Given the description of an element on the screen output the (x, y) to click on. 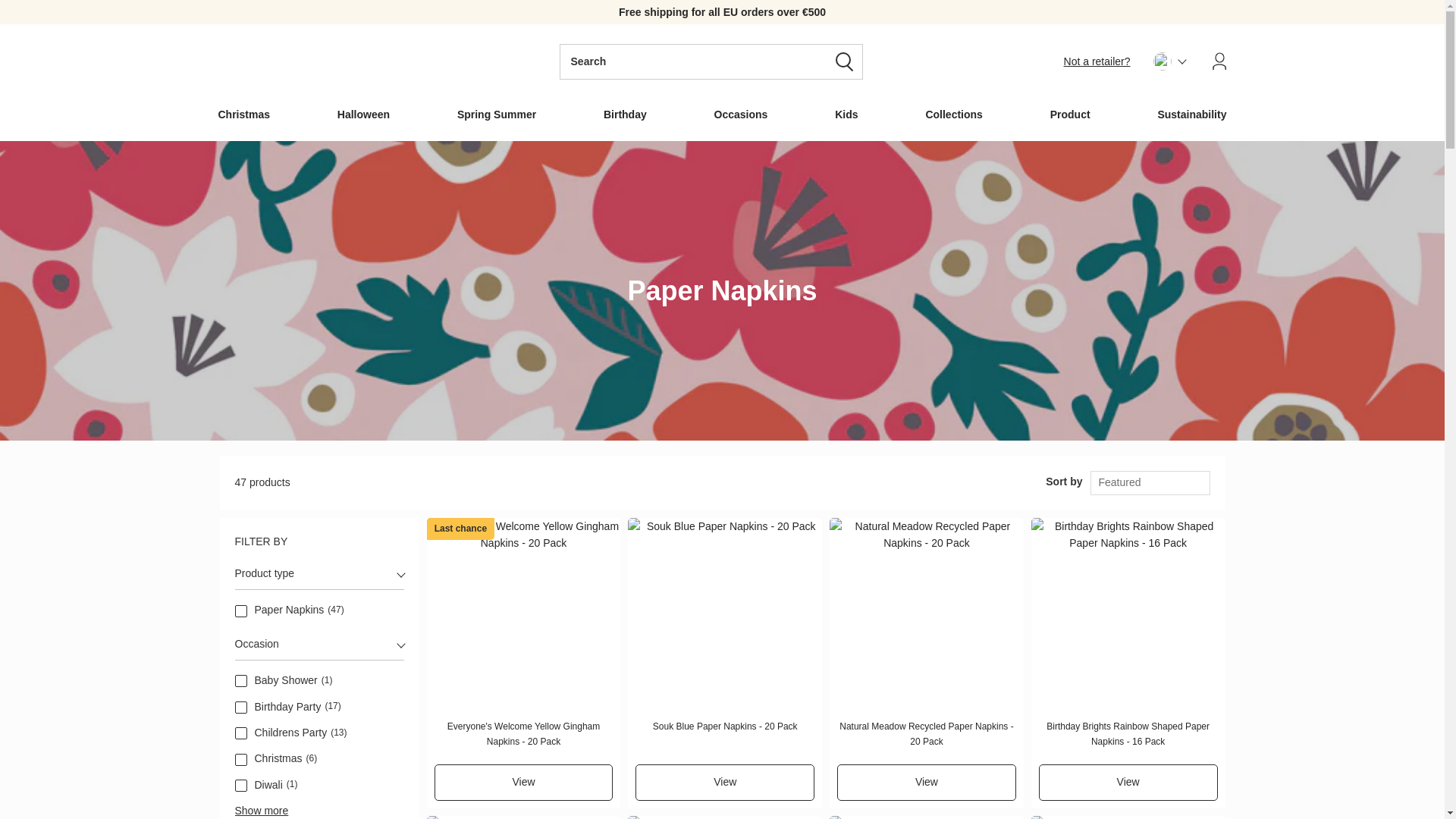
Birthday Party (240, 707)
Childrens Party (240, 733)
Paper Napkins (240, 611)
Baby Shower (240, 680)
Christmas (240, 759)
Diwali (240, 785)
